Given the description of an element on the screen output the (x, y) to click on. 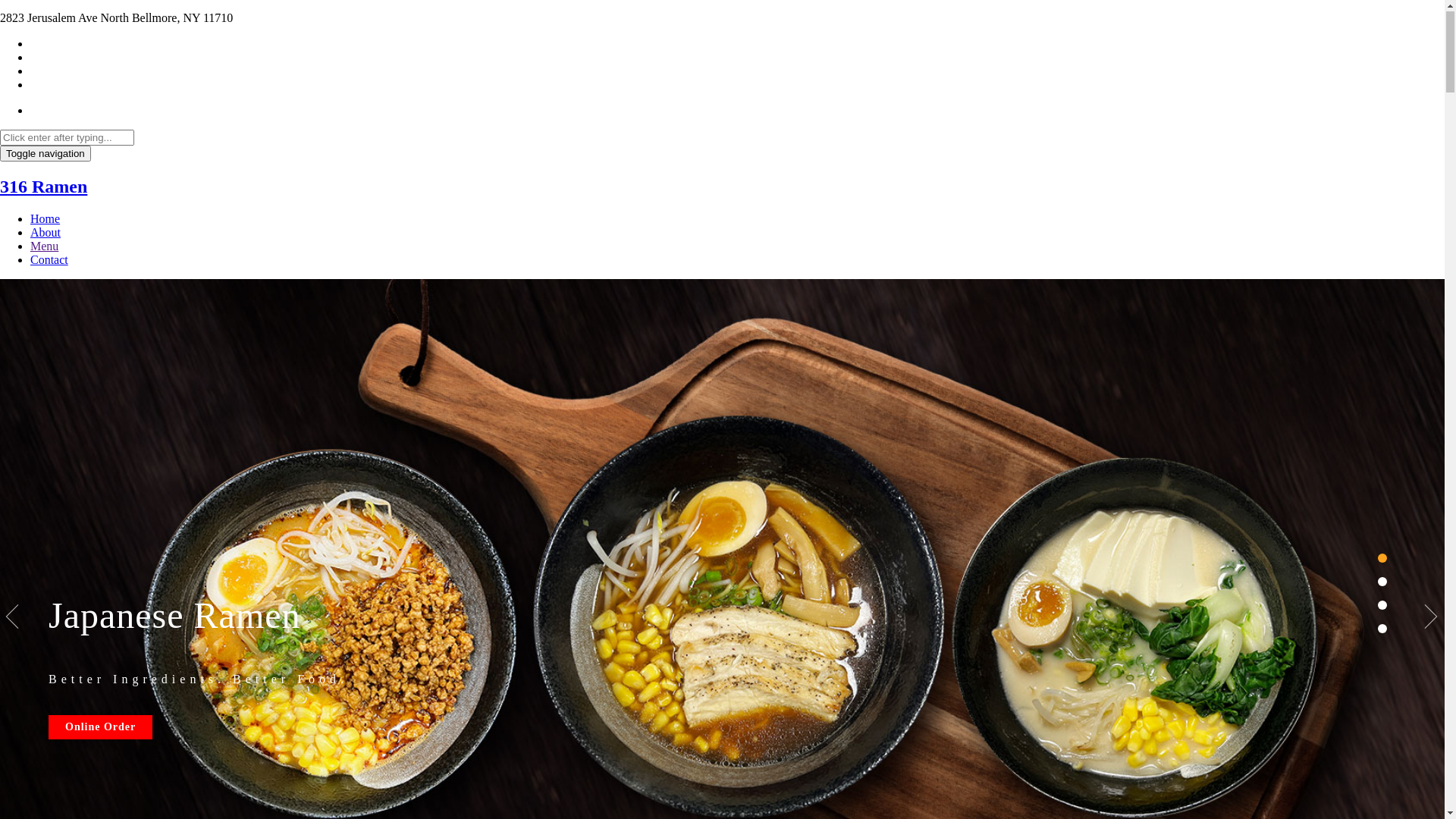
Next Element type: text (1431, 617)
Contact Element type: text (49, 260)
Online Order Element type: text (100, 727)
316 Ramen Element type: text (43, 187)
Toggle navigation Element type: text (45, 154)
Menu Element type: text (44, 246)
Home Element type: text (44, 219)
About Element type: text (45, 232)
Previous Element type: text (12, 617)
